Given the description of an element on the screen output the (x, y) to click on. 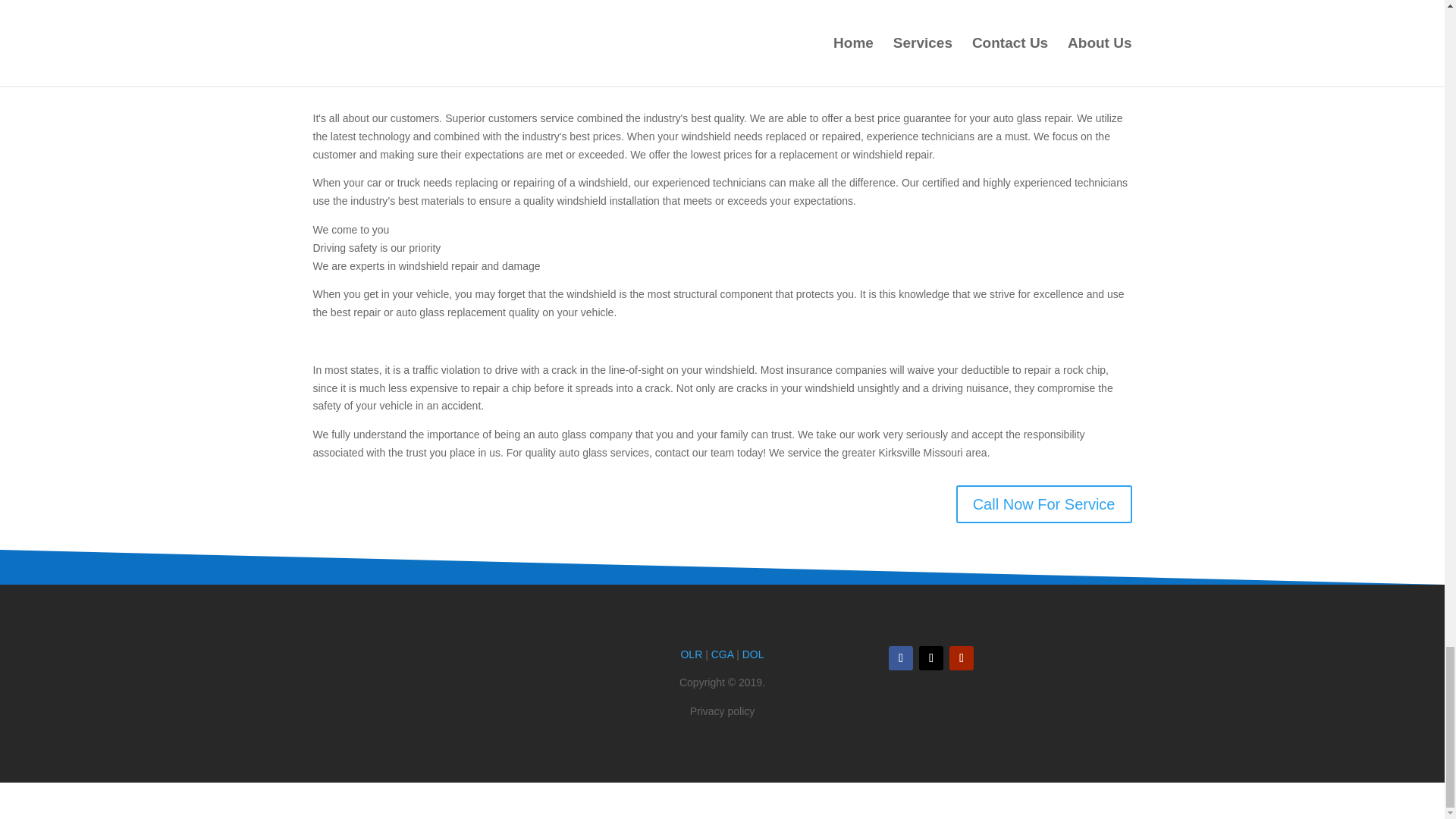
Follow on Youtube (961, 658)
Follow on Facebook (900, 658)
OLR (690, 654)
DOL (753, 654)
Follow on X (930, 658)
Call Now For Service (1044, 504)
CGA (722, 654)
